Given the description of an element on the screen output the (x, y) to click on. 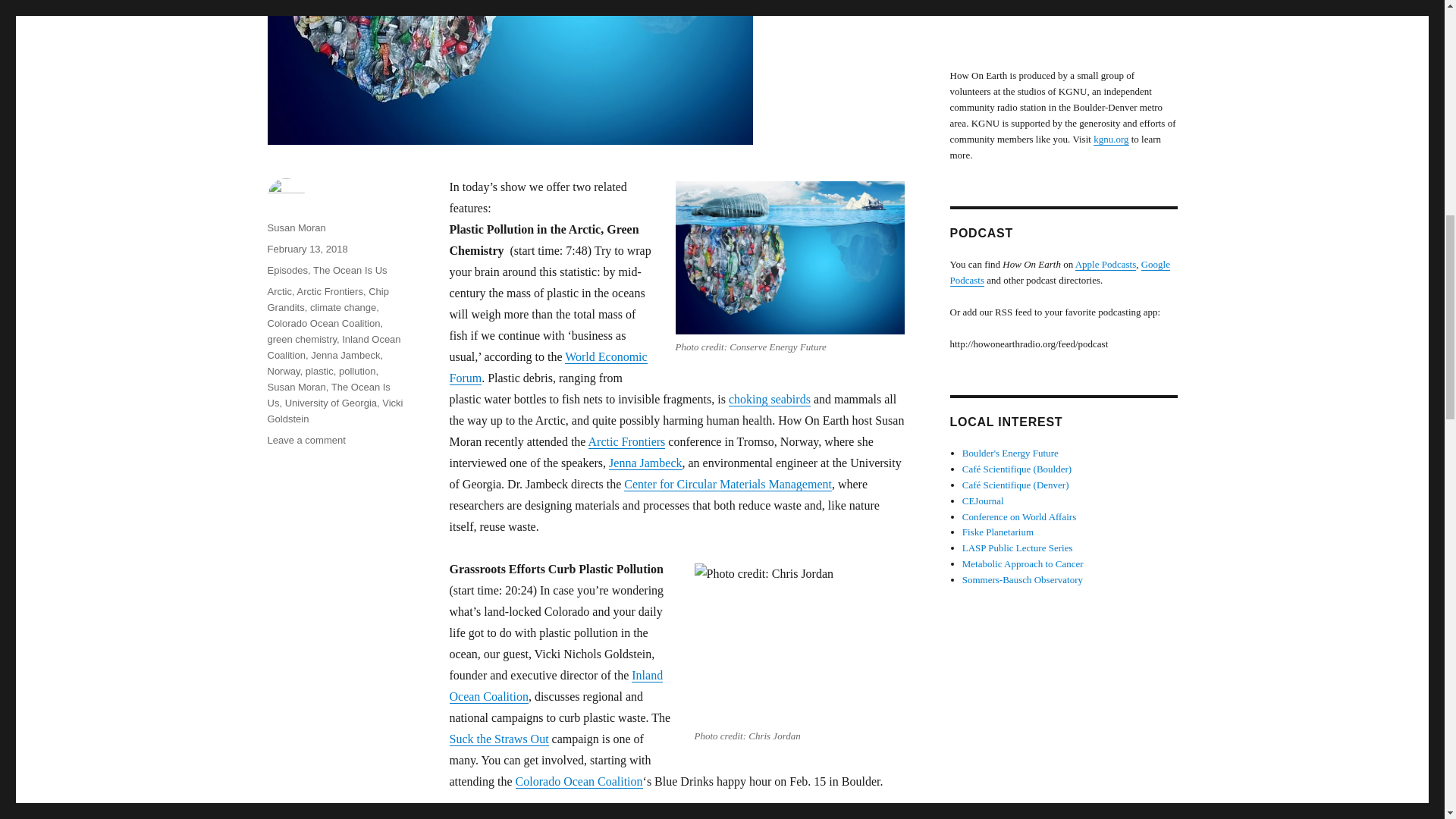
Suck the Straws Out (498, 738)
choking seabirds (769, 399)
World Economic Forum (547, 367)
Arctic Frontiers (626, 440)
Inland Ocean Coalition (555, 685)
Center for Circular Materials Management (727, 483)
Colorado Ocean Coalition (579, 780)
Jenna Jambeck (644, 462)
